Given the description of an element on the screen output the (x, y) to click on. 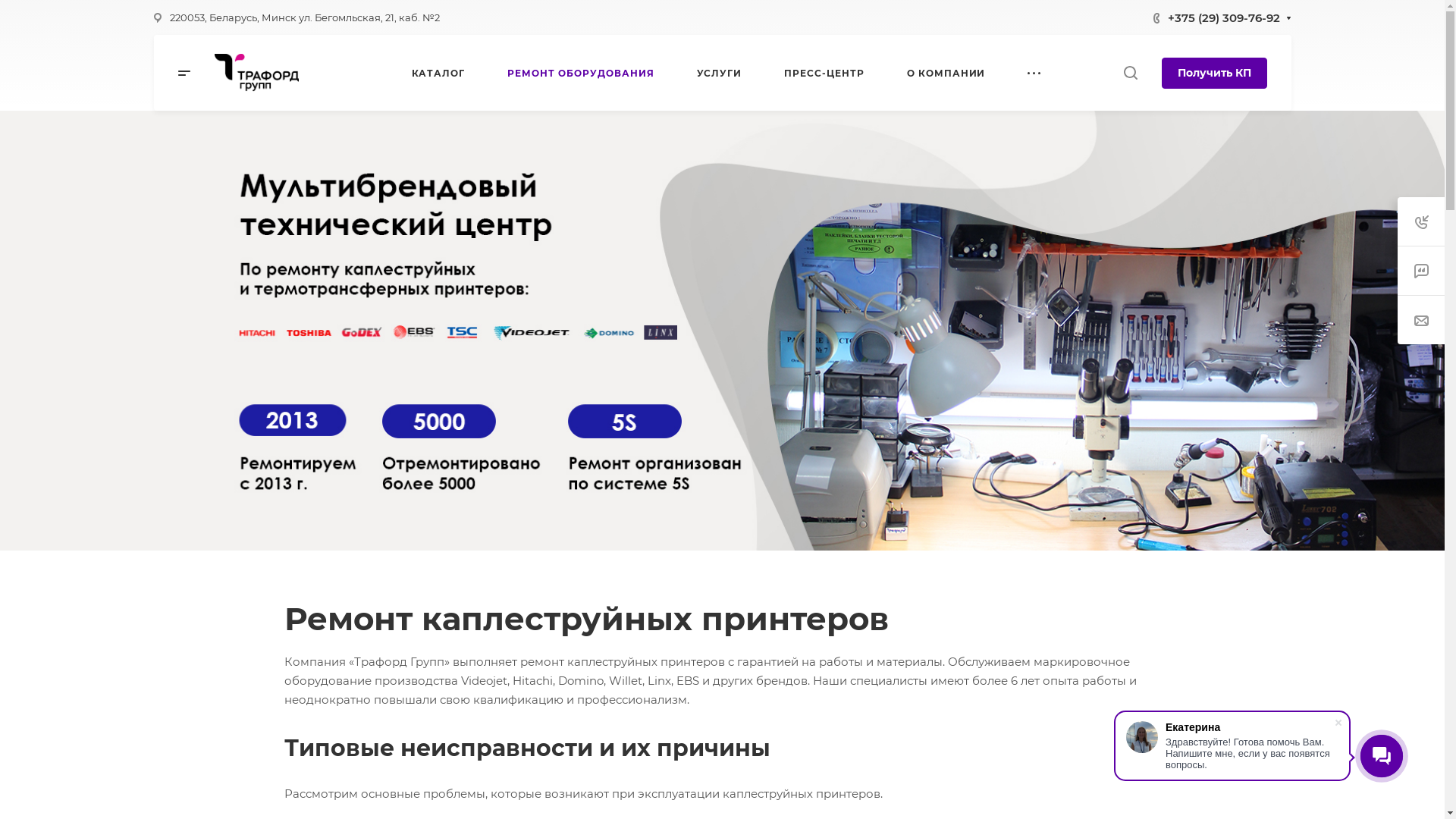
+375 (29) 309-76-92 Element type: text (1223, 16)
